Given the description of an element on the screen output the (x, y) to click on. 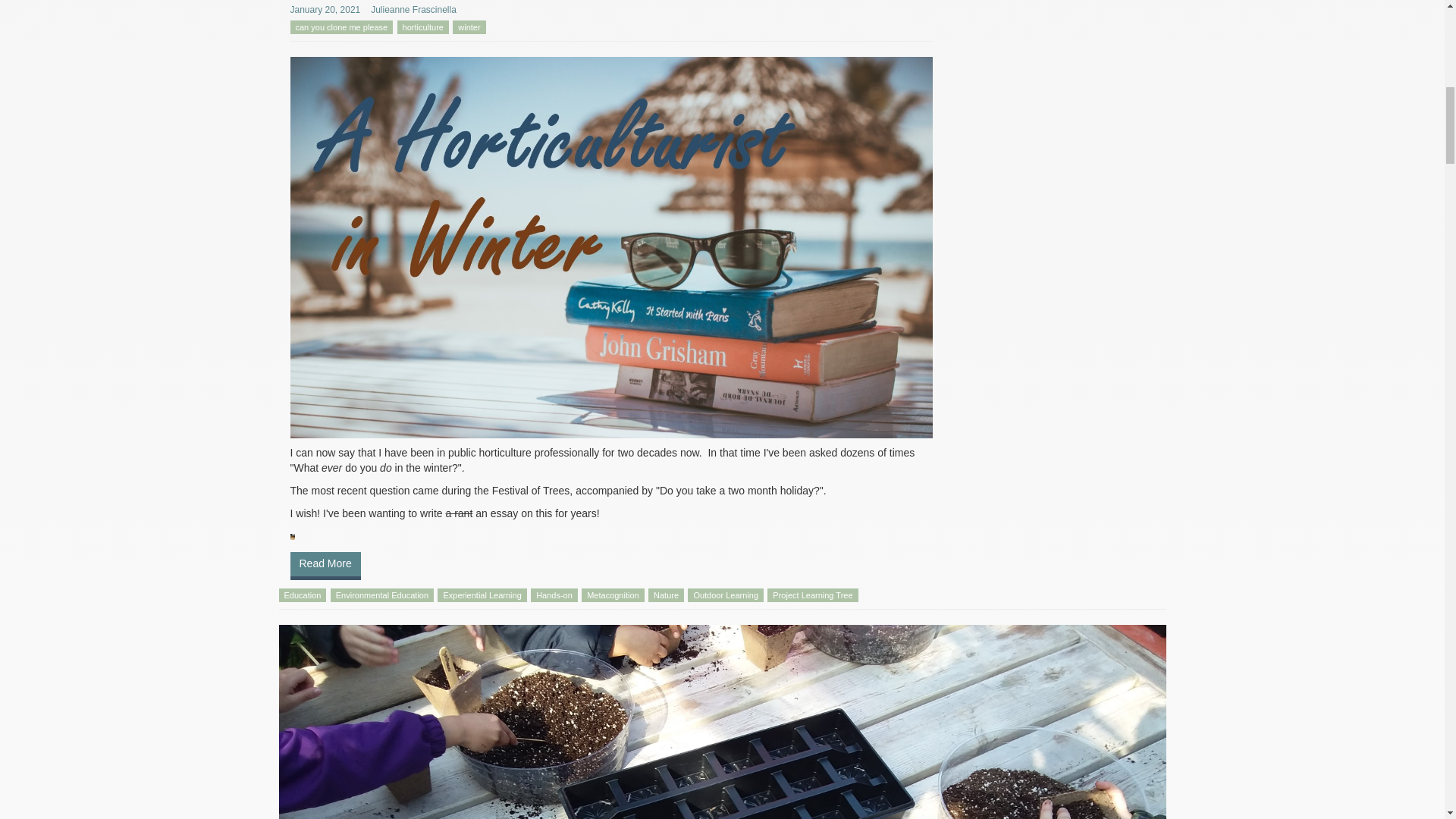
winter (468, 27)
Read More (324, 565)
Education (302, 594)
horticulture (422, 27)
can you clone me please (341, 27)
